Given the description of an element on the screen output the (x, y) to click on. 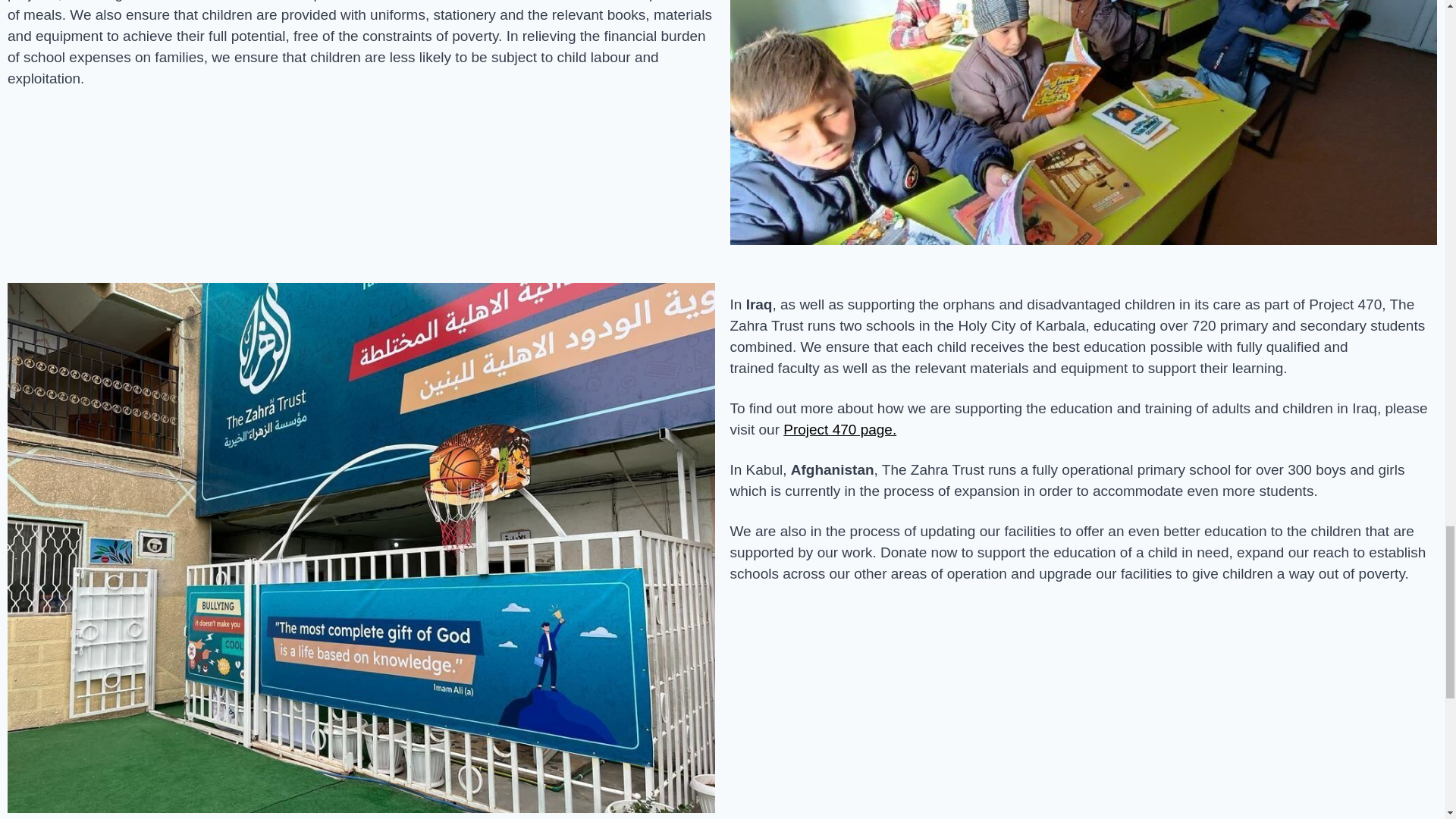
Project 470 page. (839, 429)
